Given the description of an element on the screen output the (x, y) to click on. 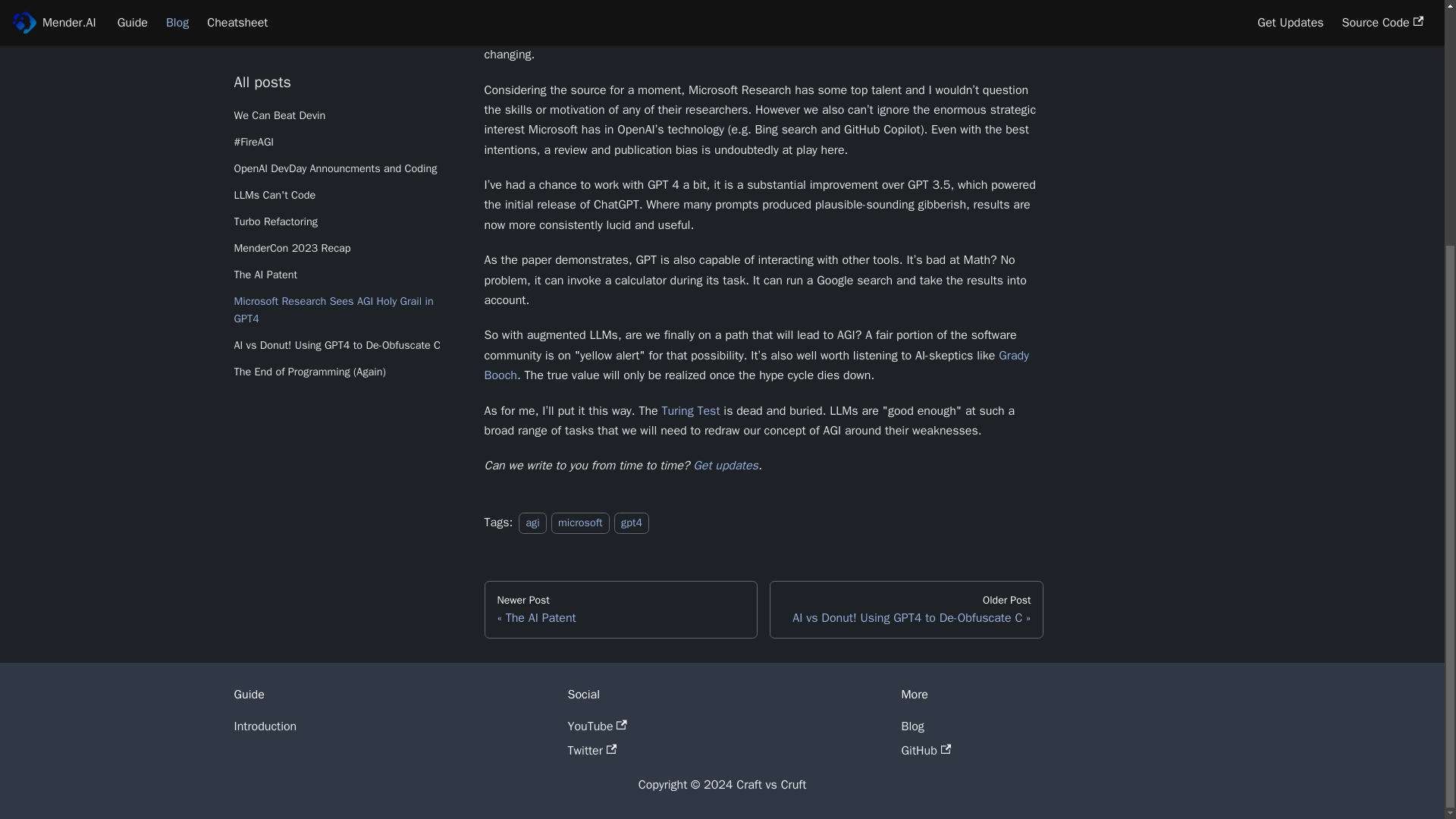
YouTube (596, 726)
AI vs Donut! Using GPT4 to De-Obfuscate C (346, 6)
Grady Booch (620, 609)
Blog (755, 365)
Get updates (912, 726)
Turing Test (725, 465)
agi (906, 609)
gpt4 (690, 410)
microsoft (532, 522)
Introduction (631, 522)
GitHub (580, 522)
Twitter (264, 726)
